Given the description of an element on the screen output the (x, y) to click on. 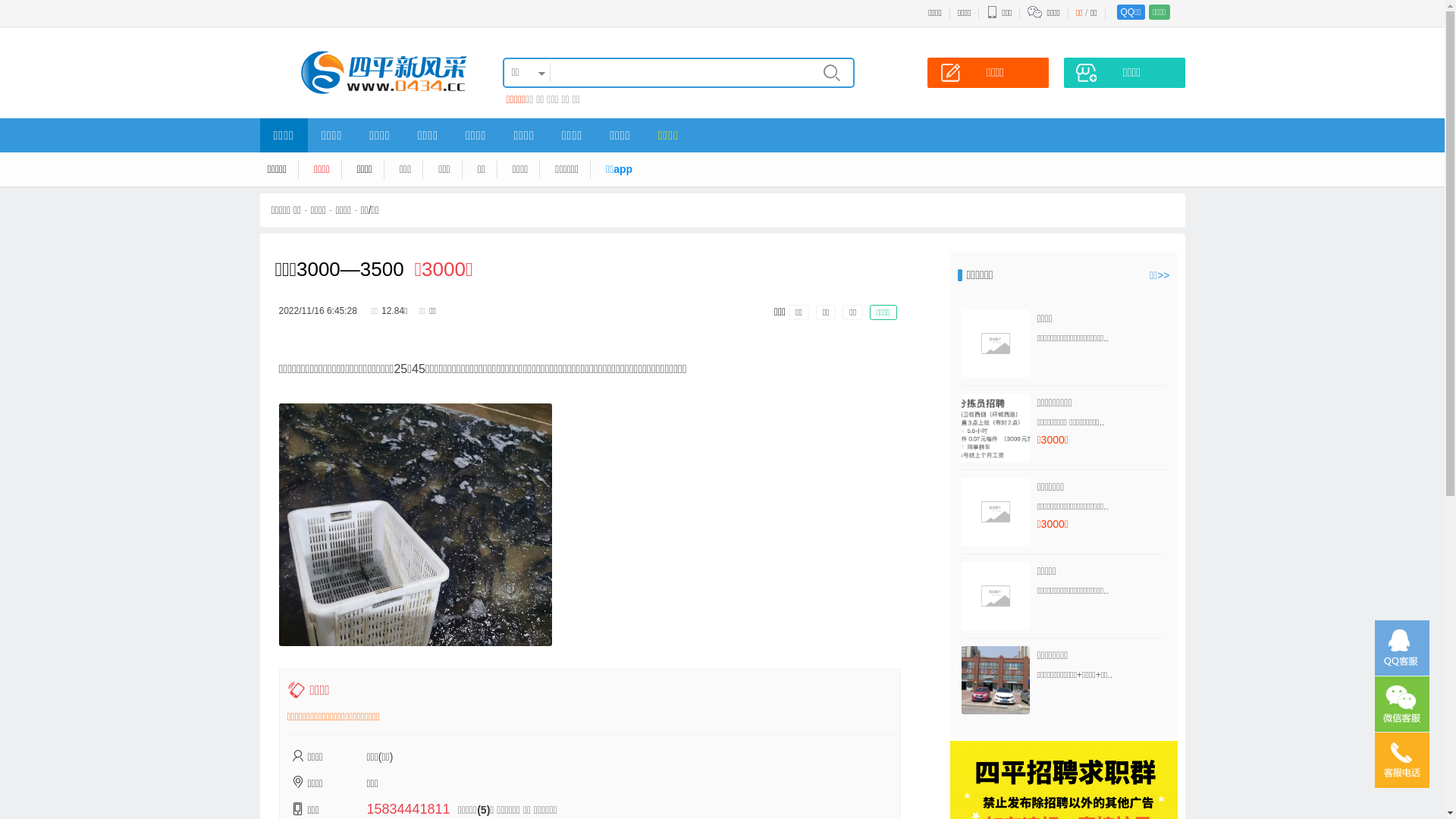
(5) Element type: text (482, 809)
